Given the description of an element on the screen output the (x, y) to click on. 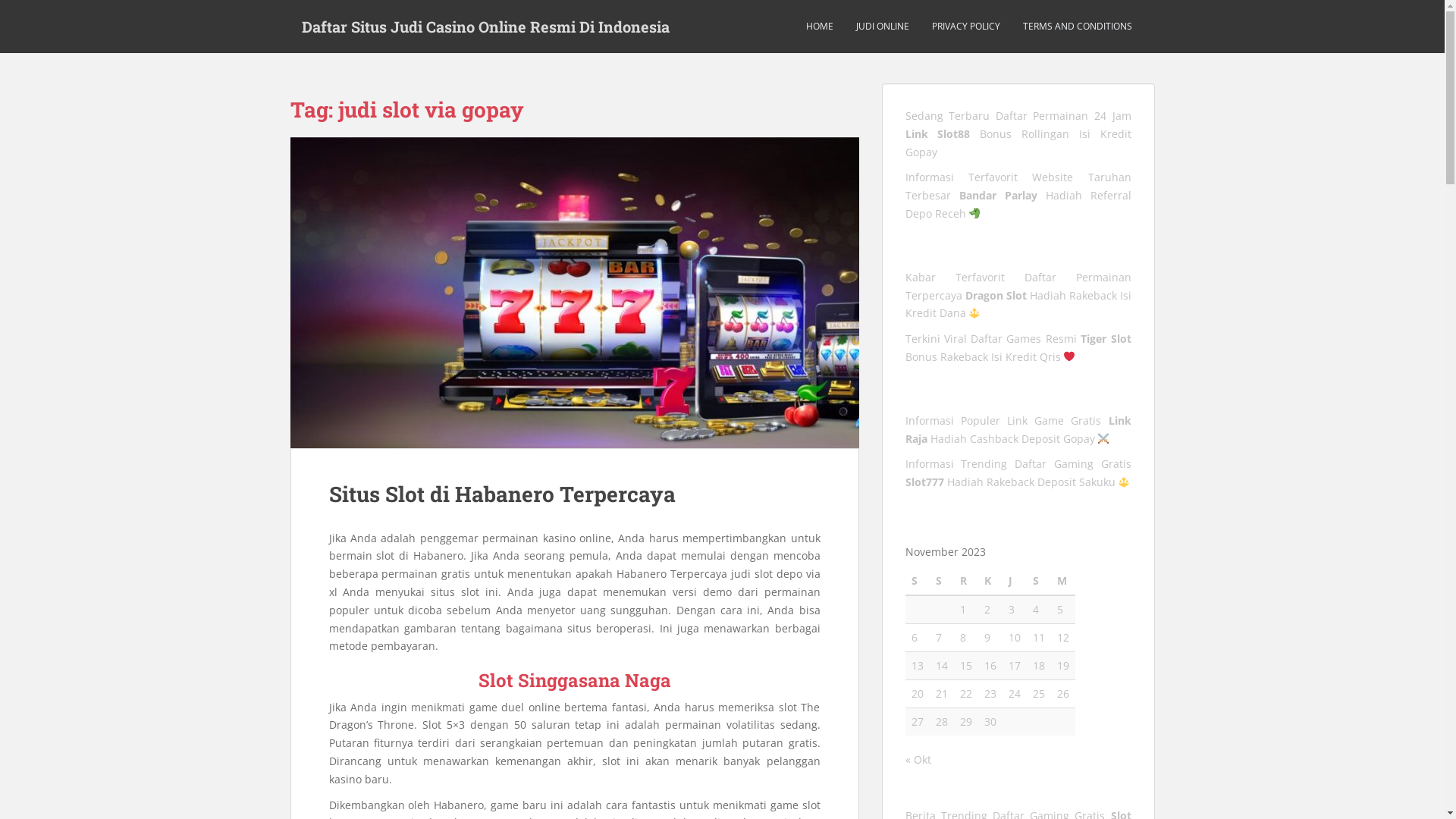
TERMS AND CONDITIONS Element type: text (1076, 26)
Tiger Slot Element type: text (1105, 338)
JUDI ONLINE Element type: text (881, 26)
4 Element type: text (1035, 609)
Situs Slot di Habanero Terpercaya Element type: hover (573, 292)
Daftar Situs Judi Casino Online Resmi Di Indonesia Element type: text (484, 26)
PRIVACY POLICY Element type: text (965, 26)
HOME Element type: text (818, 26)
Link Slot88 Element type: text (937, 133)
Situs Slot di Habanero Terpercaya Element type: text (502, 494)
Slot777 Element type: text (924, 481)
Link Raja Element type: text (1018, 429)
Dragon Slot Element type: text (995, 295)
Bandar Parlay Element type: text (997, 195)
14 Element type: text (941, 665)
